Given the description of an element on the screen output the (x, y) to click on. 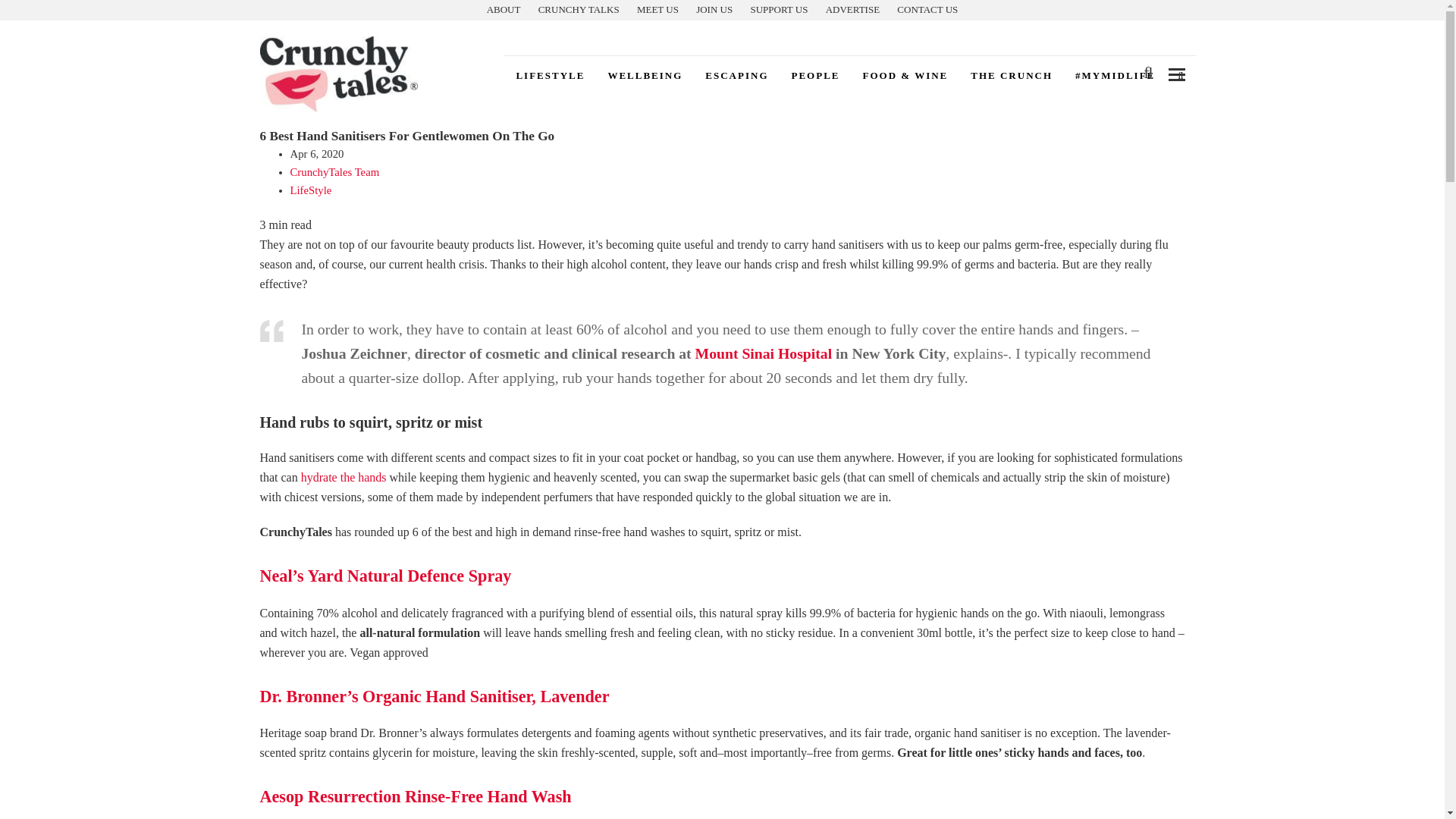
Aesop Resurrection Rinse-Free Hand Wash (414, 796)
ABOUT (503, 9)
Posts by CrunchyTales Team (333, 172)
LIFESTYLE (549, 75)
hydrate the hands (344, 477)
Mount Sinai Hospital (763, 352)
SUPPORT US (778, 9)
ADVERTISE (852, 9)
Meet the CrunchytTale Team (657, 9)
JOIN US (713, 9)
Join CrunchyTales (713, 9)
PEOPLE (814, 75)
CRUNCHY TALKS (579, 9)
LifeStyle (549, 75)
MEET US (657, 9)
